Given the description of an element on the screen output the (x, y) to click on. 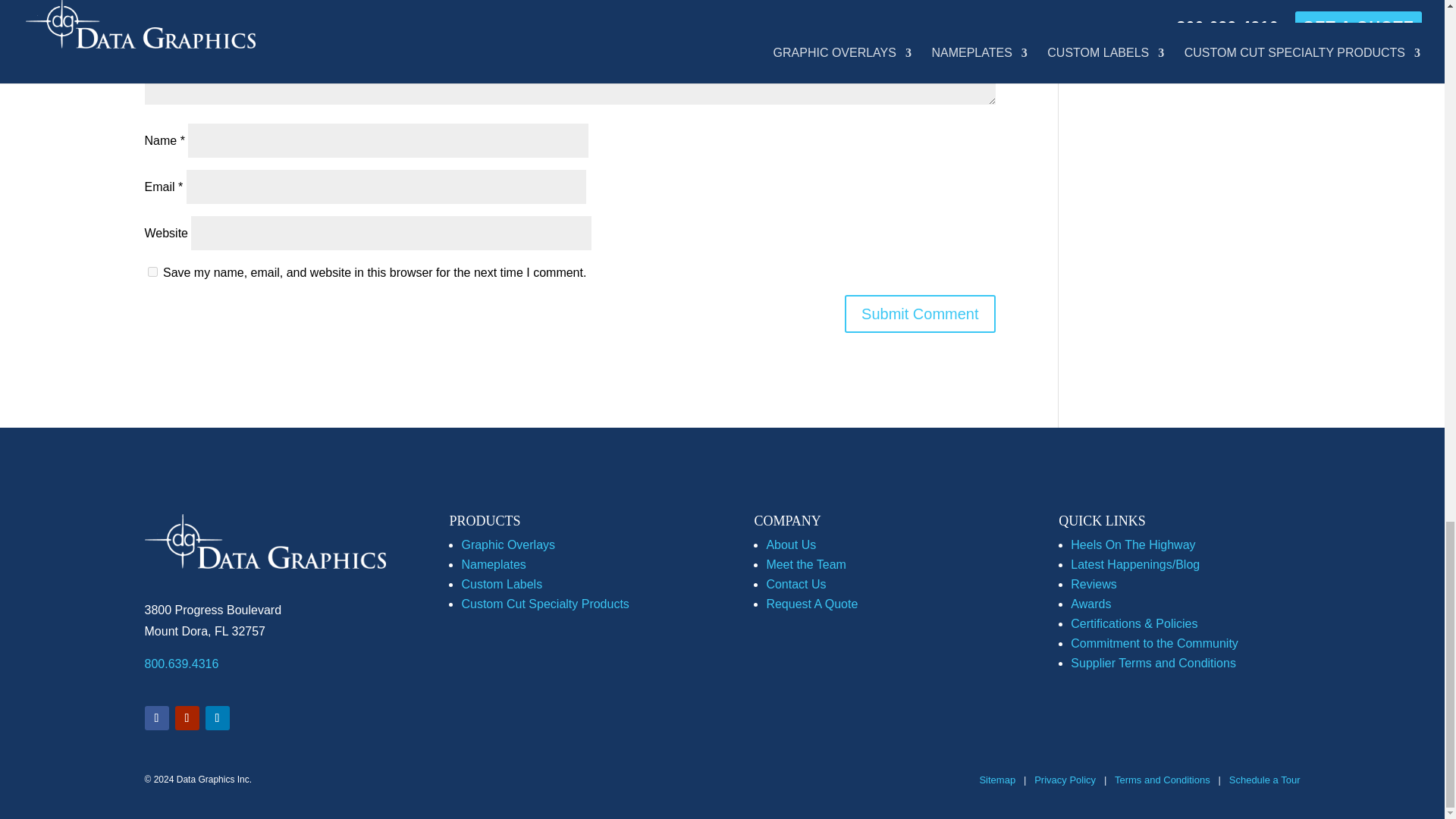
Follow on Youtube (186, 717)
Follow on Facebook (156, 717)
Follow on LinkedIn (216, 717)
Submit Comment (919, 313)
Submit Comment (919, 313)
yes (152, 271)
